Given the description of an element on the screen output the (x, y) to click on. 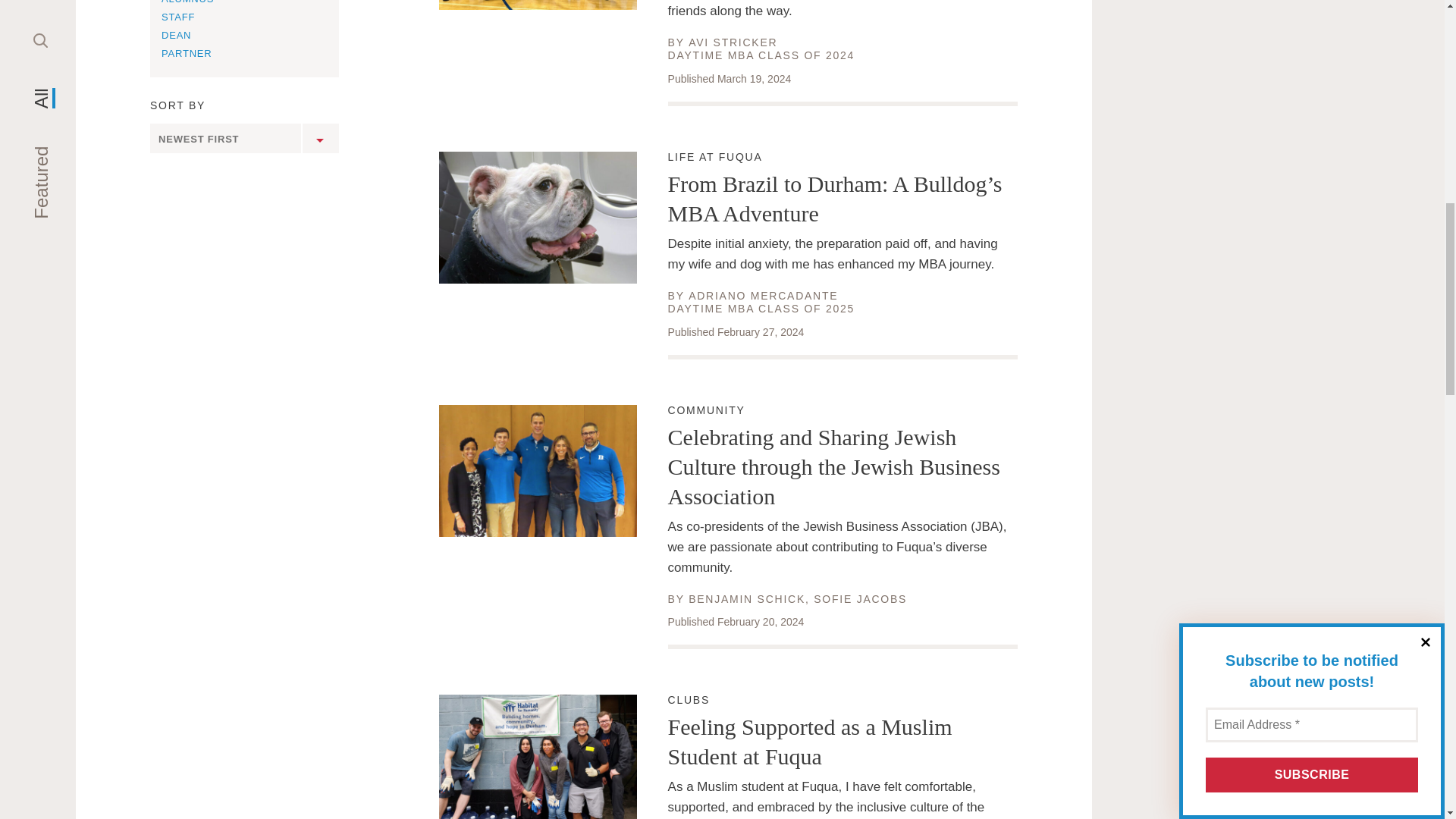
PARTNER (186, 53)
ALUMNUS (187, 2)
STAFF (178, 17)
DEAN (175, 35)
